Given the description of an element on the screen output the (x, y) to click on. 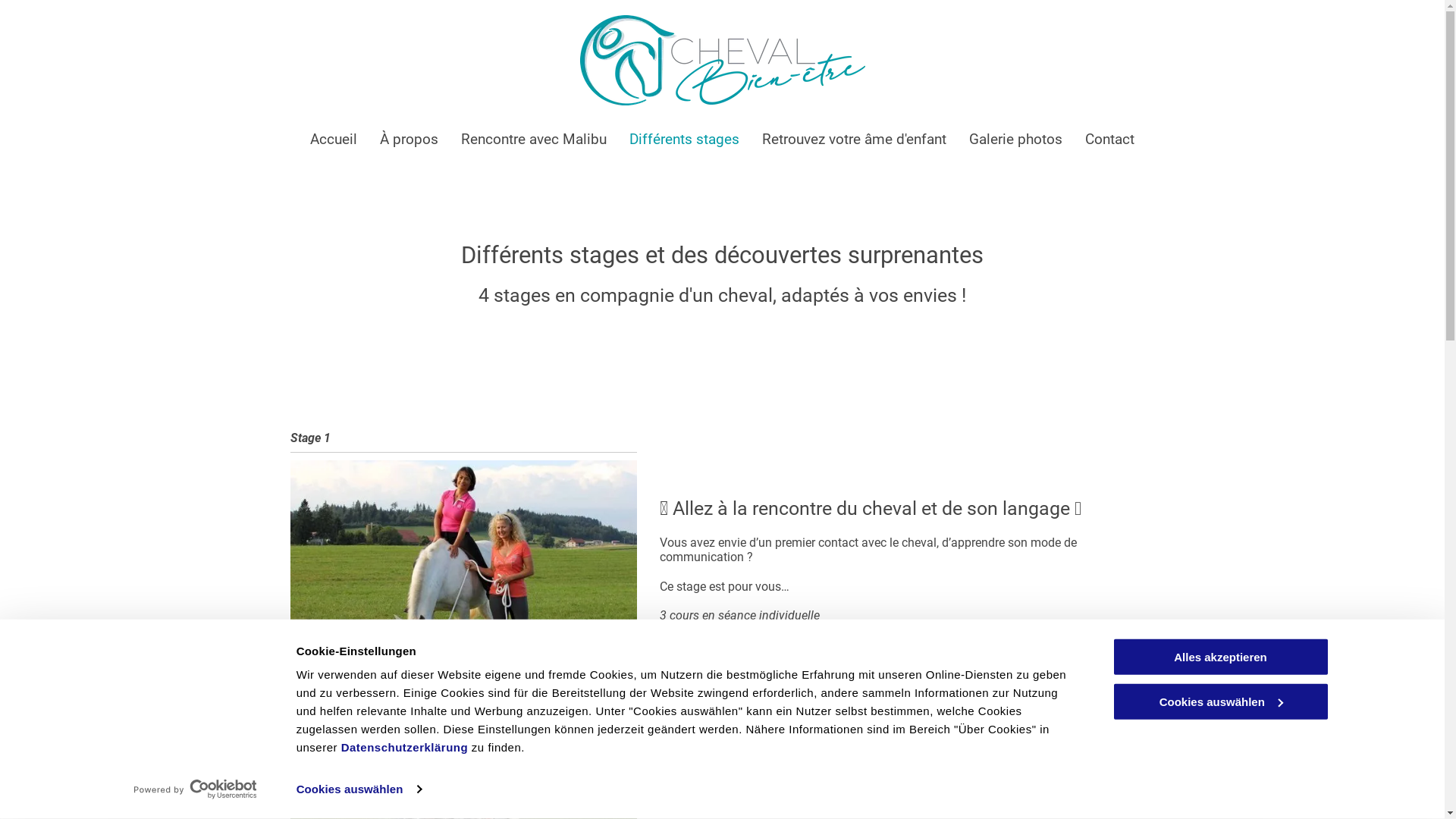
Accueil Element type: text (333, 138)
Galerie photos Element type: text (1015, 138)
Contact Element type: text (1109, 138)
Rencontre avec Malibu Element type: text (533, 138)
Alles akzeptieren Element type: text (1219, 656)
